Given the description of an element on the screen output the (x, y) to click on. 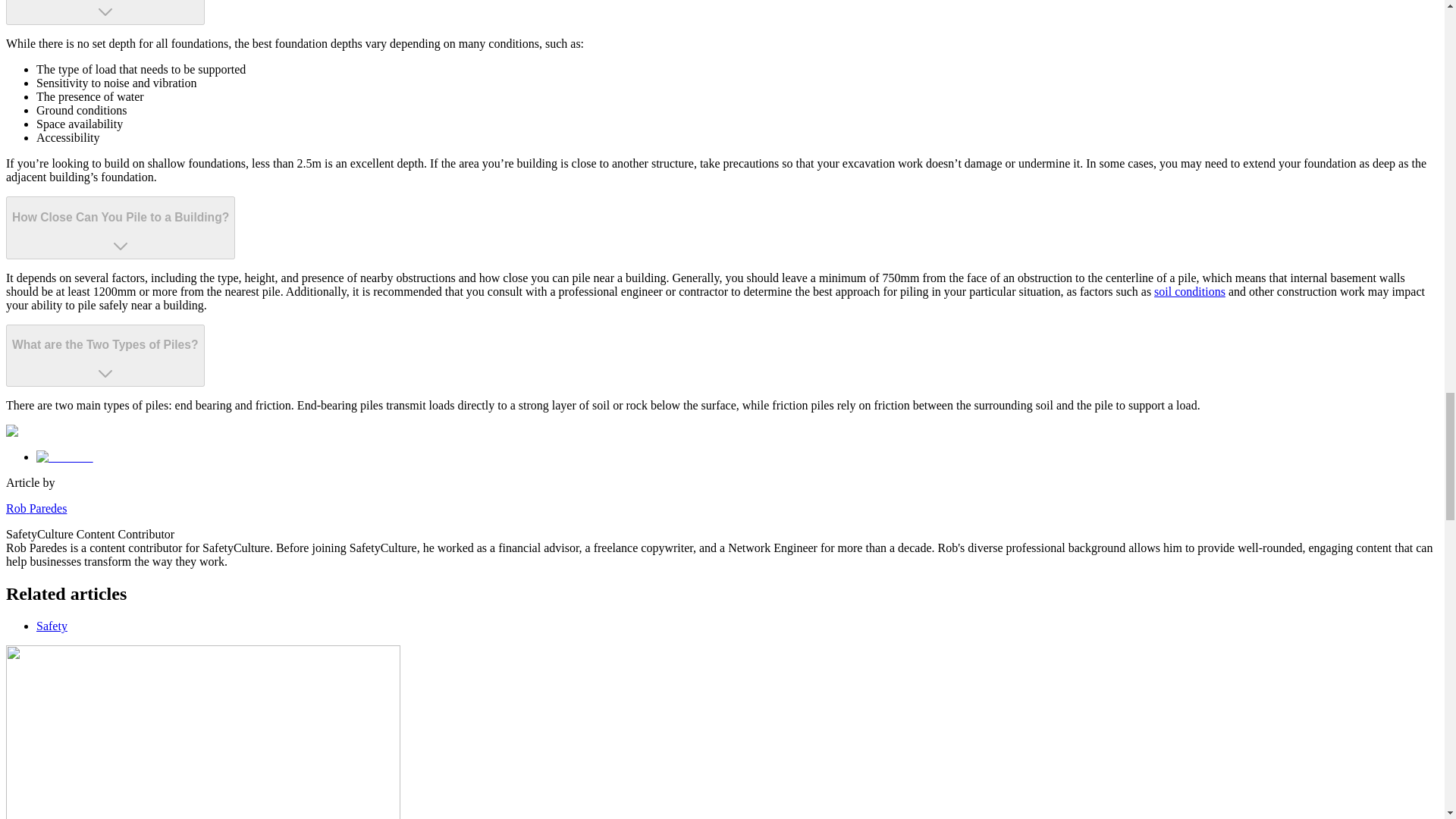
What is the Pile Minimum Depth? (105, 12)
soil conditions (1189, 291)
Safety (51, 625)
How Close Can You Pile to a Building? (119, 227)
What are the Two Types of Piles? (105, 355)
